Given the description of an element on the screen output the (x, y) to click on. 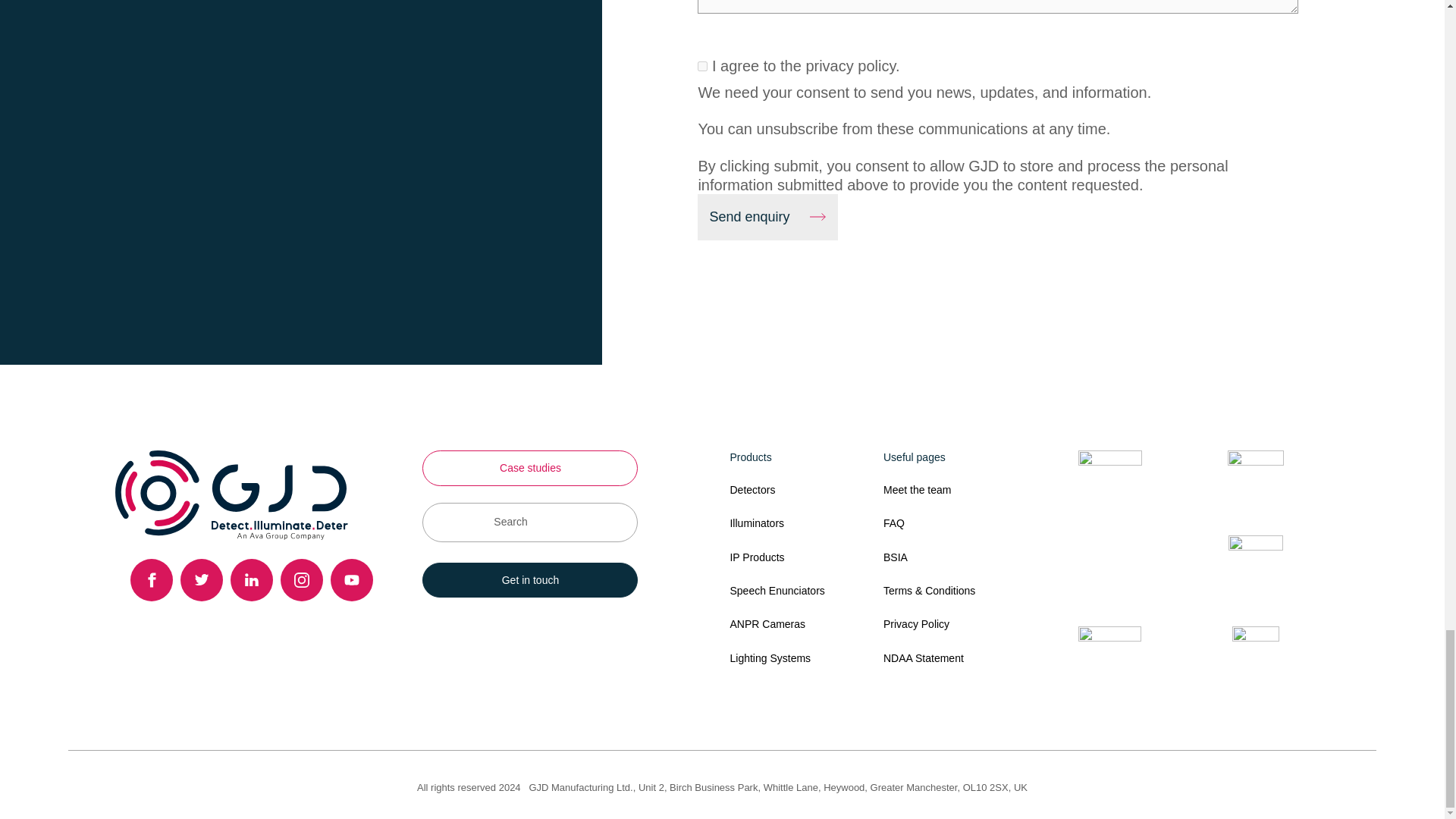
Send enquiry (767, 217)
home (231, 494)
1 (702, 66)
